Given the description of an element on the screen output the (x, y) to click on. 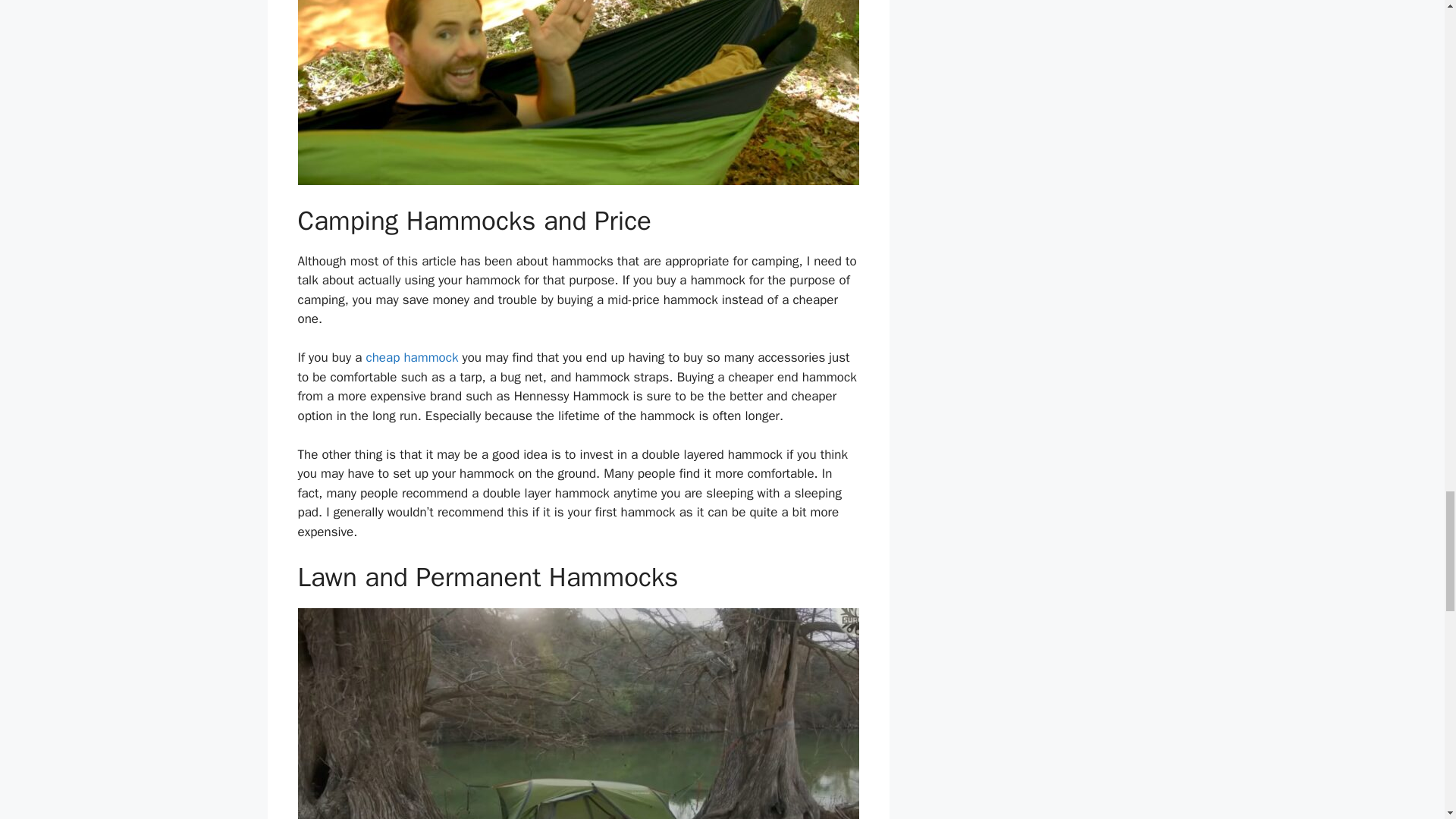
cheap hammock (411, 357)
